Given the description of an element on the screen output the (x, y) to click on. 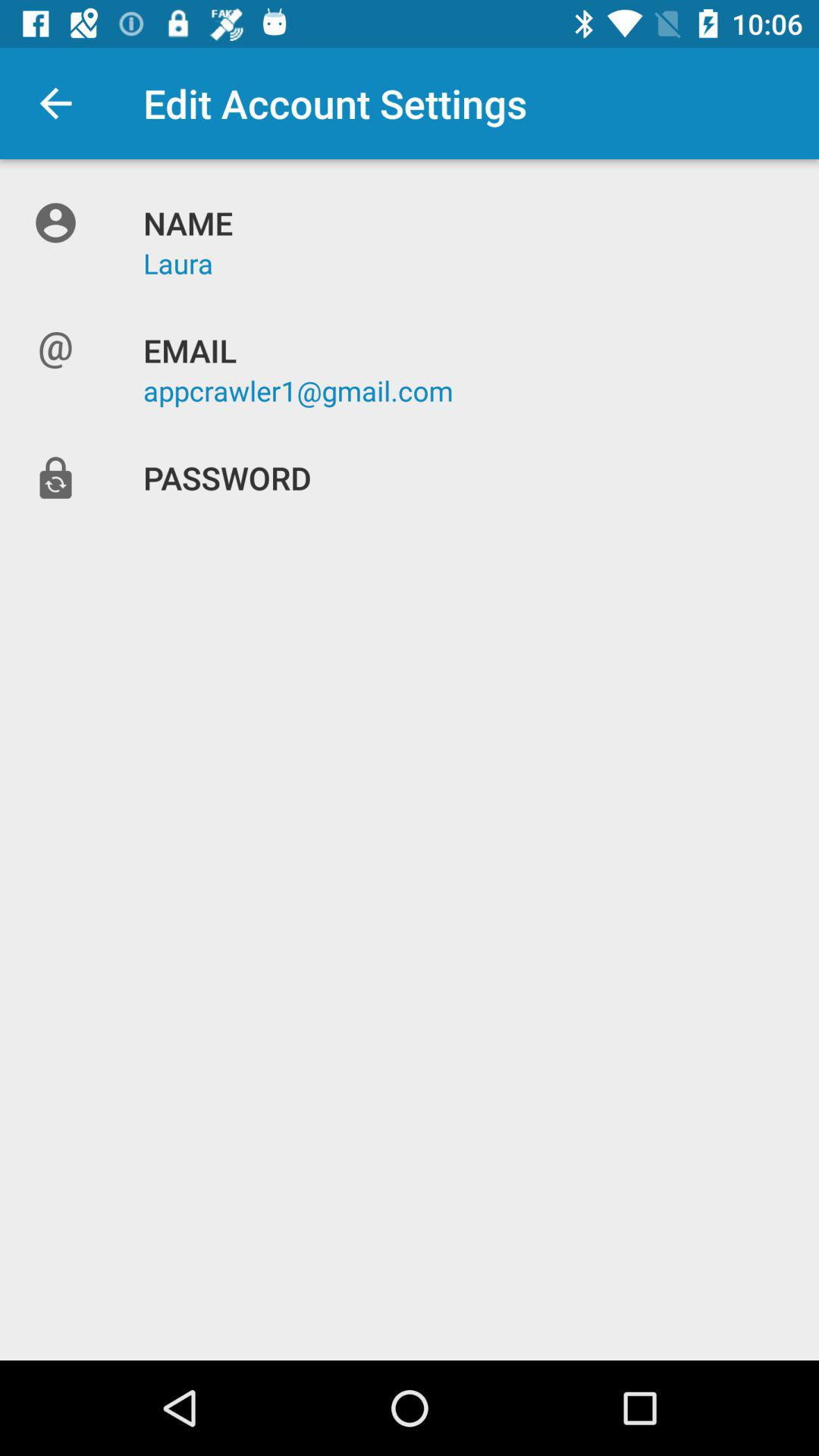
click the icon next to edit account settings icon (55, 103)
